Given the description of an element on the screen output the (x, y) to click on. 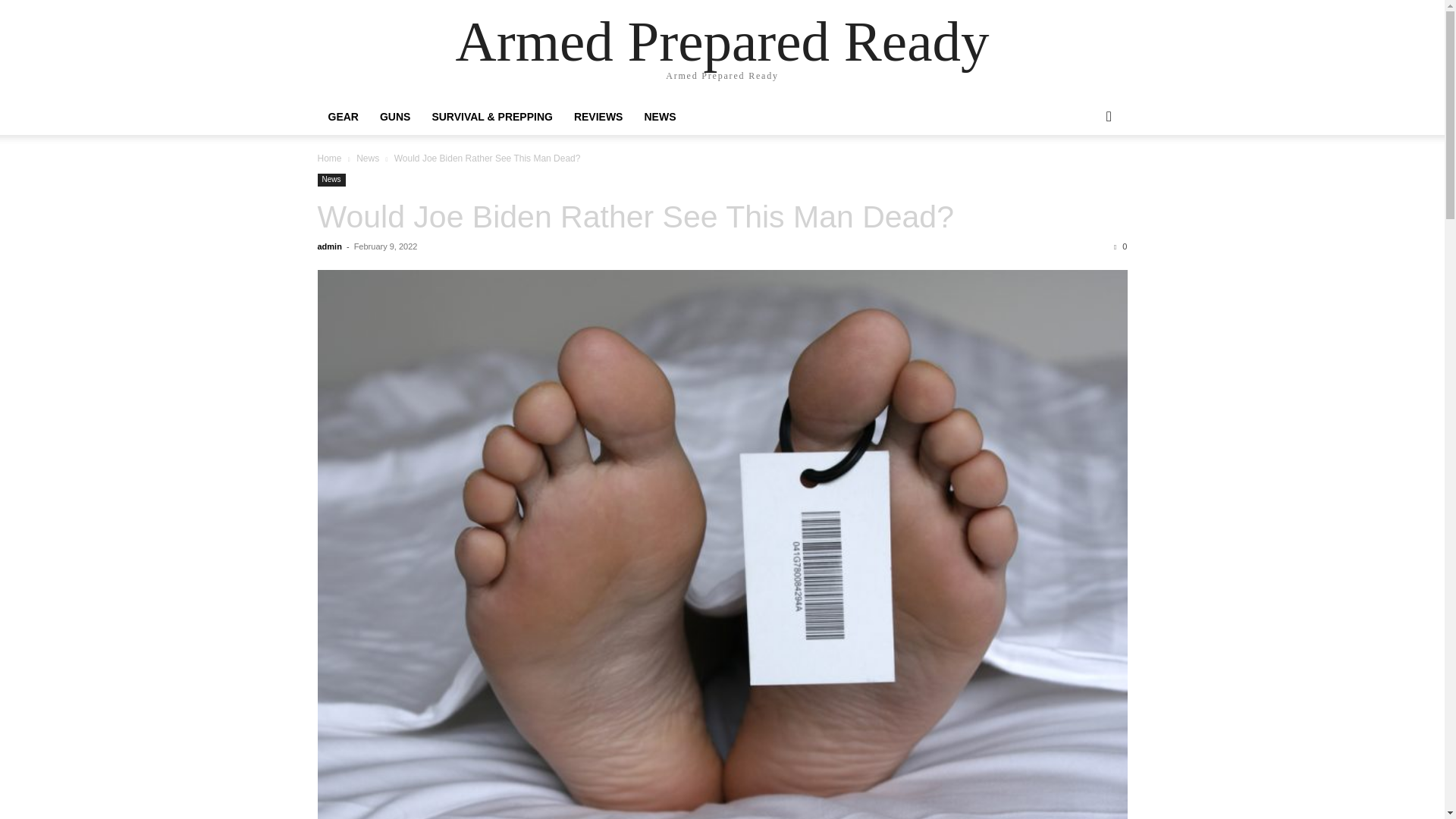
admin (328, 245)
NEWS (659, 116)
News (367, 158)
Would Joe Biden Rather See This Man Dead? (635, 216)
REVIEWS (598, 116)
GUNS (394, 116)
Armed Prepared Ready (722, 41)
News (331, 179)
Search (1085, 177)
Would Joe Biden Rather See This Man Dead? (635, 216)
GEAR (342, 116)
Home (328, 158)
0 (1119, 245)
View all posts in News (367, 158)
